Given the description of an element on the screen output the (x, y) to click on. 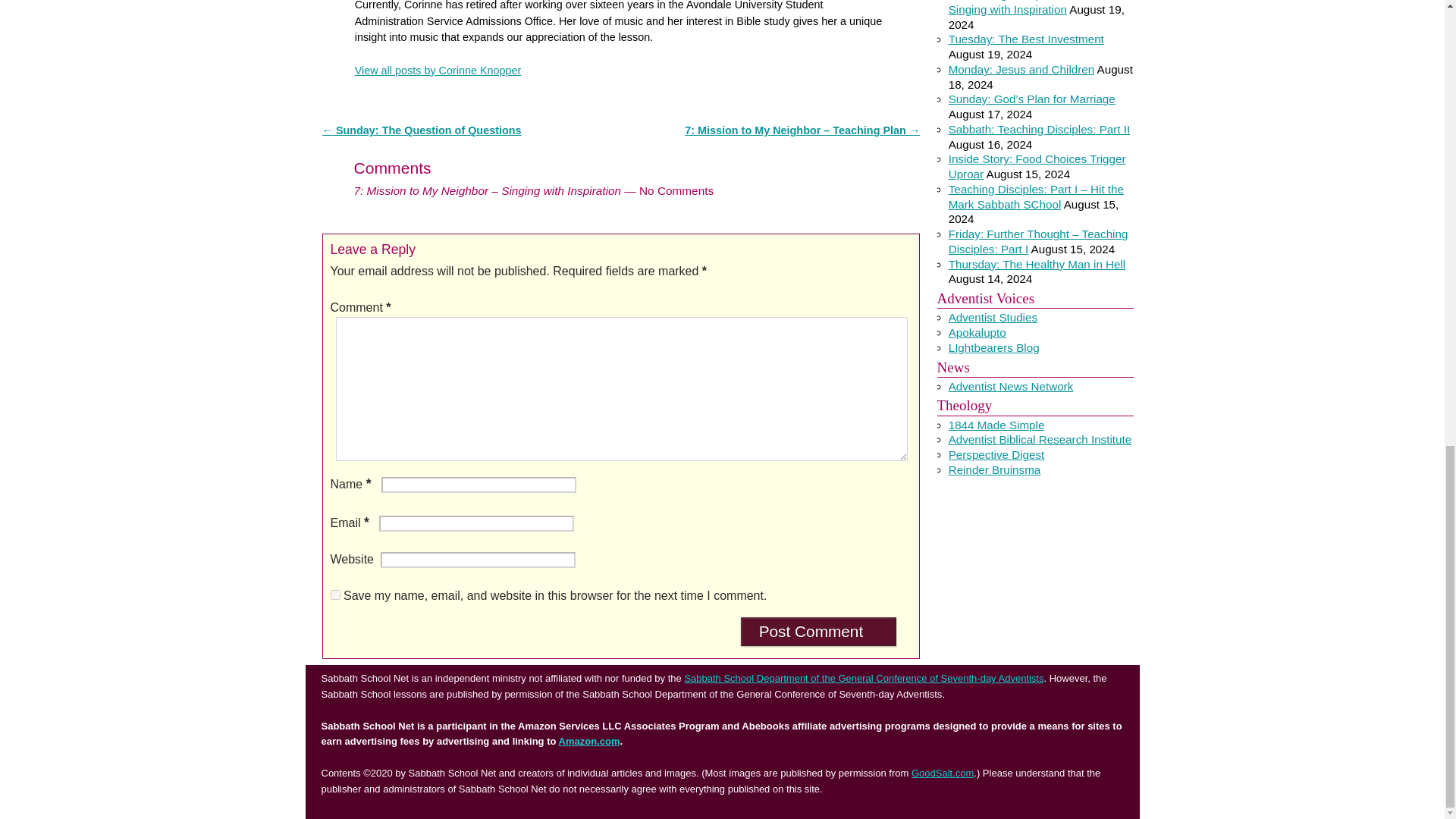
 David Hamstra blog (977, 332)
by Arthur Patrick of Avondale (992, 317)
Post Comment (818, 631)
yes (335, 594)
Publication of Adventist Theological Society (997, 454)
Official Adventist News Network (1011, 386)
